Given the description of an element on the screen output the (x, y) to click on. 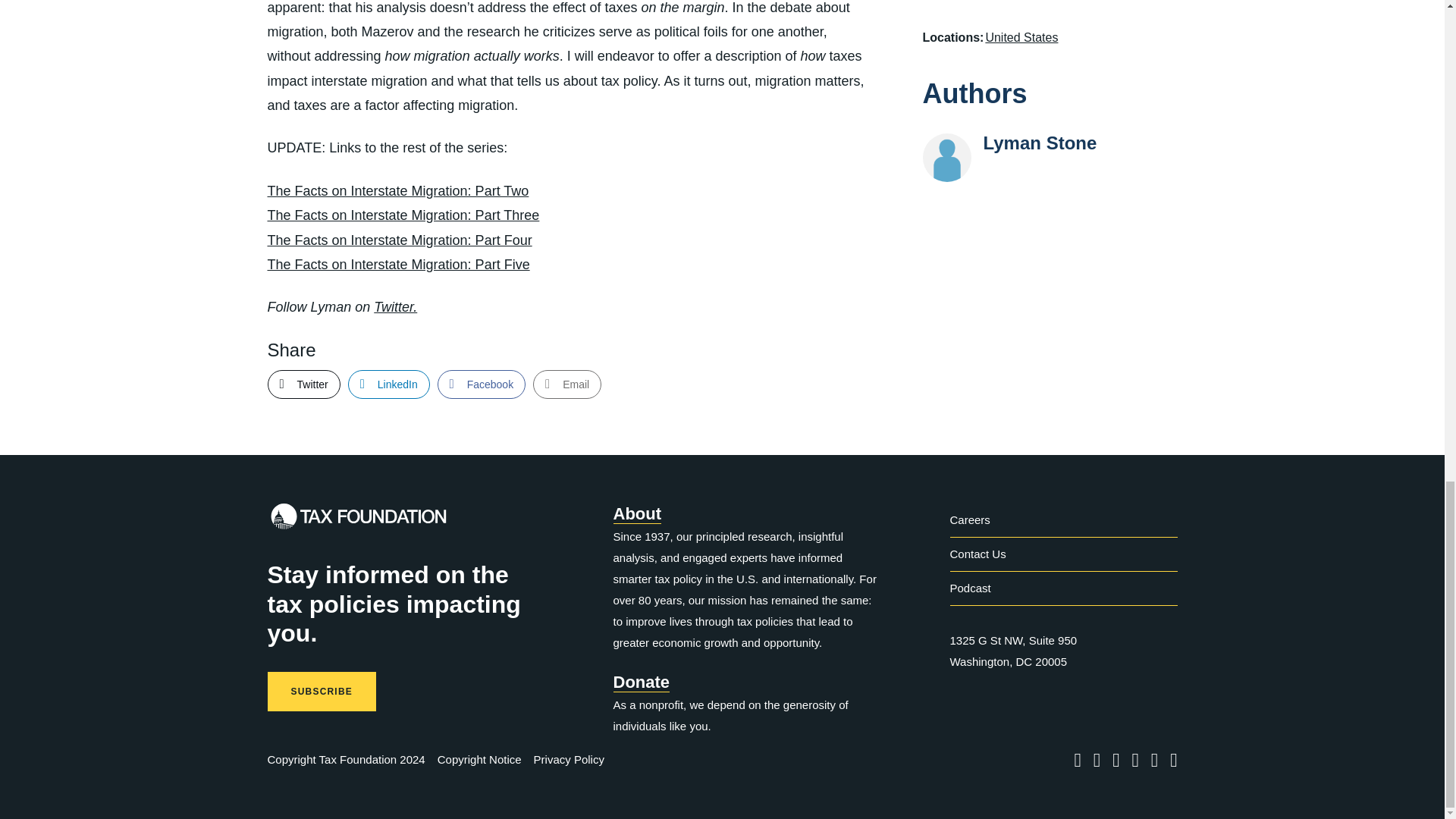
Tax Foundation (357, 519)
